Given the description of an element on the screen output the (x, y) to click on. 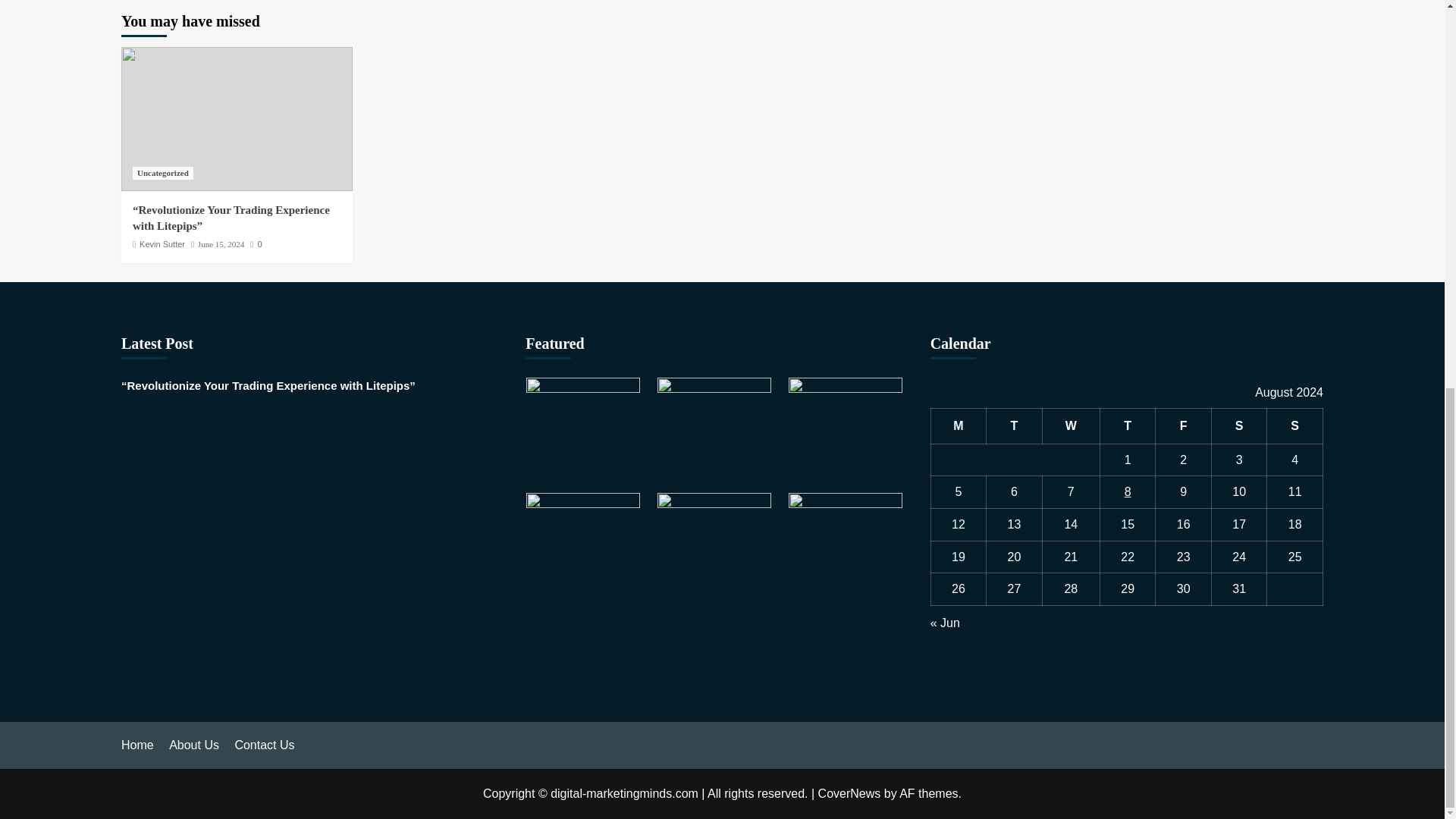
Wednesday (1070, 426)
Thursday (1127, 426)
Monday (958, 426)
Friday (1183, 426)
Saturday (1238, 426)
June 15, 2024 (221, 243)
0 (256, 243)
Sunday (1294, 426)
Uncategorized (162, 173)
Tuesday (1014, 426)
Kevin Sutter (161, 243)
